Given the description of an element on the screen output the (x, y) to click on. 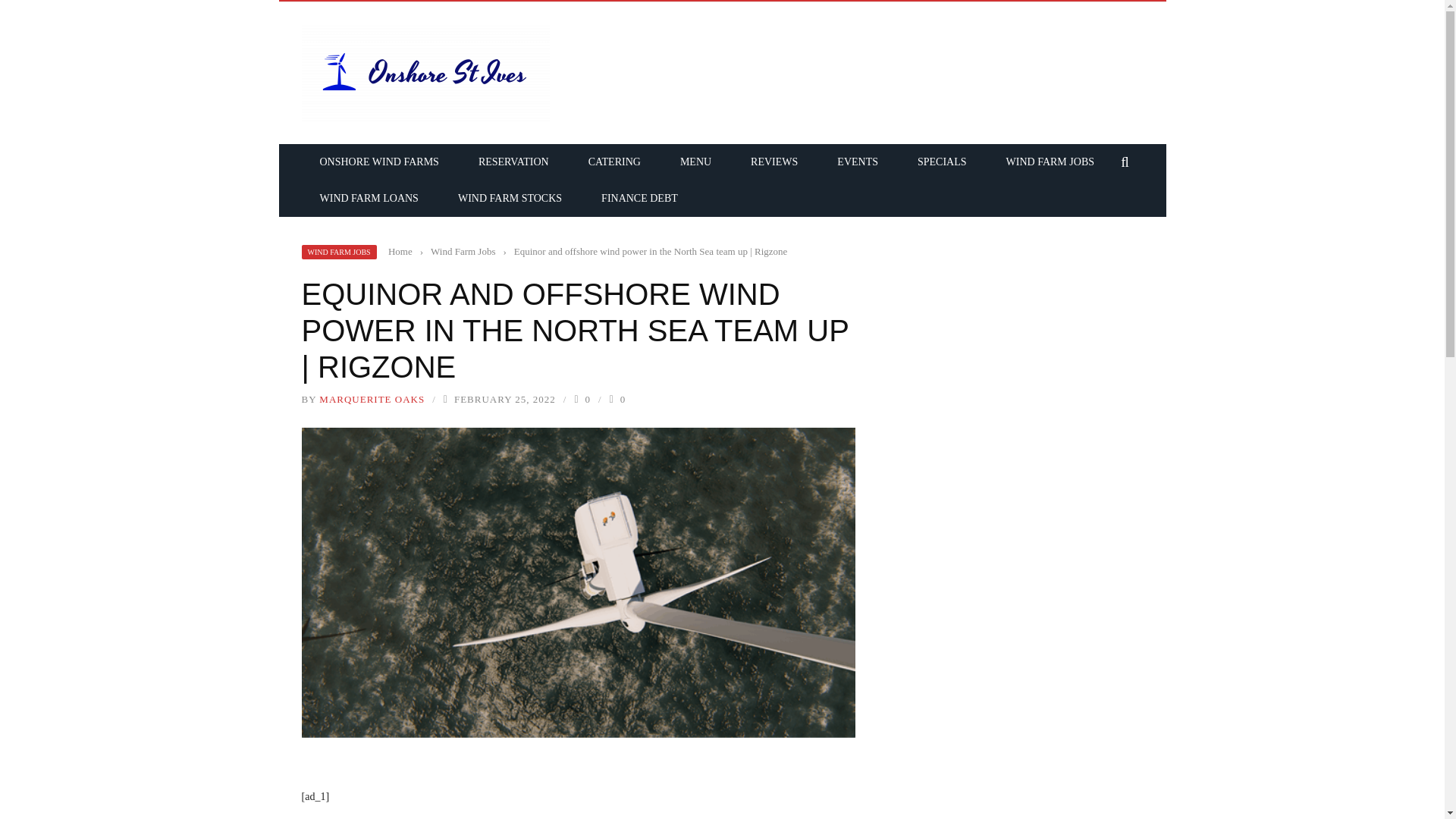
FINANCE DEBT (639, 197)
EVENTS (857, 161)
MENU (695, 161)
Home (400, 251)
WIND FARM JOBS (1050, 161)
SPECIALS (942, 161)
WIND FARM LOANS (368, 197)
REVIEWS (773, 161)
WIND FARM JOBS (339, 251)
RESERVATION (513, 161)
MARQUERITE OAKS (371, 398)
WIND FARM STOCKS (509, 197)
ONSHORE WIND FARMS (379, 161)
Wind Farm Jobs (462, 251)
CATERING (614, 161)
